Given the description of an element on the screen output the (x, y) to click on. 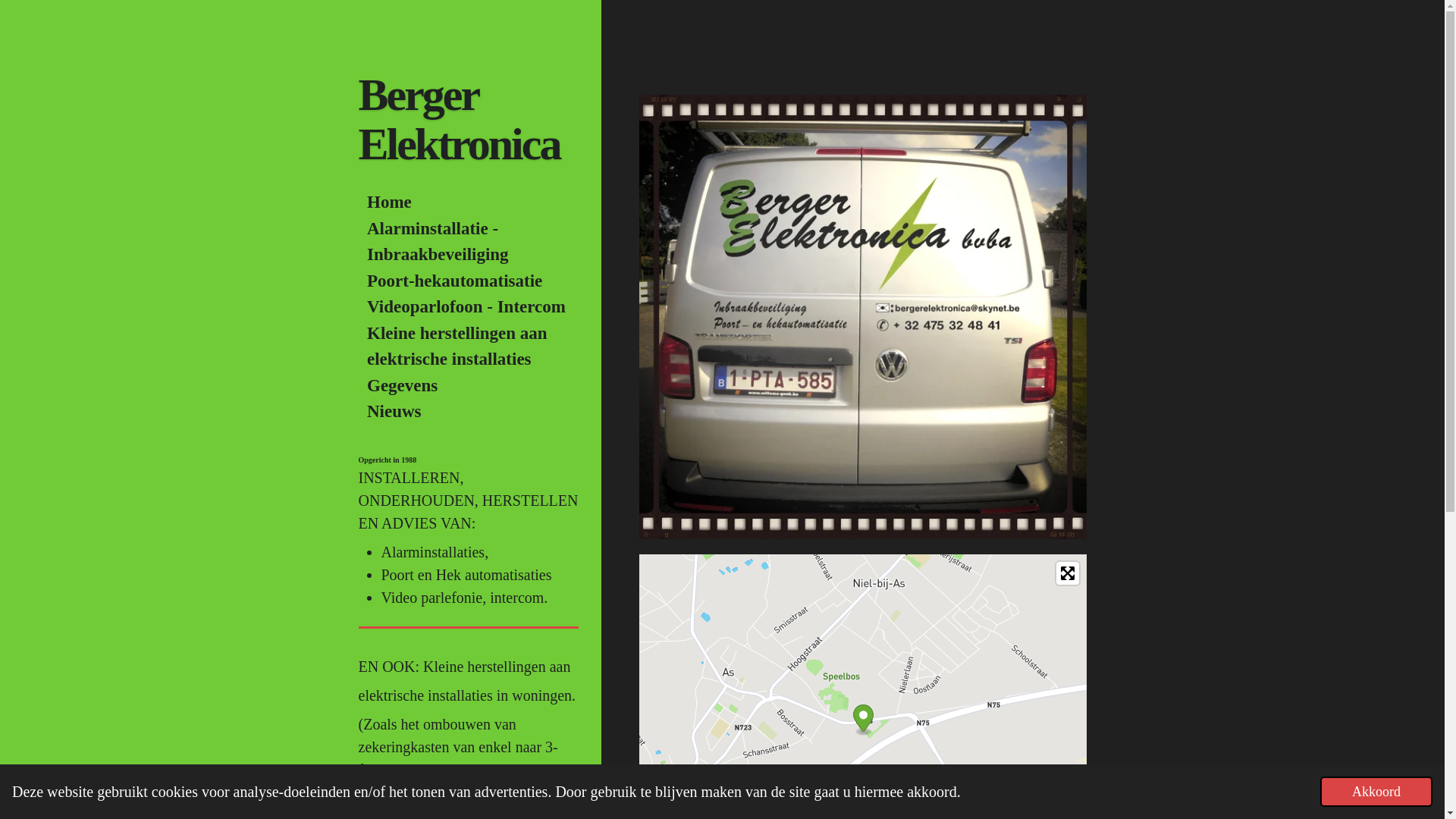
Home Element type: text (467, 202)
Akkoord Element type: text (1376, 791)
Videoparlofoon - Intercom Element type: text (467, 307)
Kleine herstellingen aan elektrische installaties Element type: text (467, 346)
Nieuws Element type: text (467, 411)
Gegevens Element type: text (467, 386)
Alarminstallatie - Inbraakbeveiliging Element type: text (467, 241)
Poort-hekautomatisatie Element type: text (467, 281)
